Given the description of an element on the screen output the (x, y) to click on. 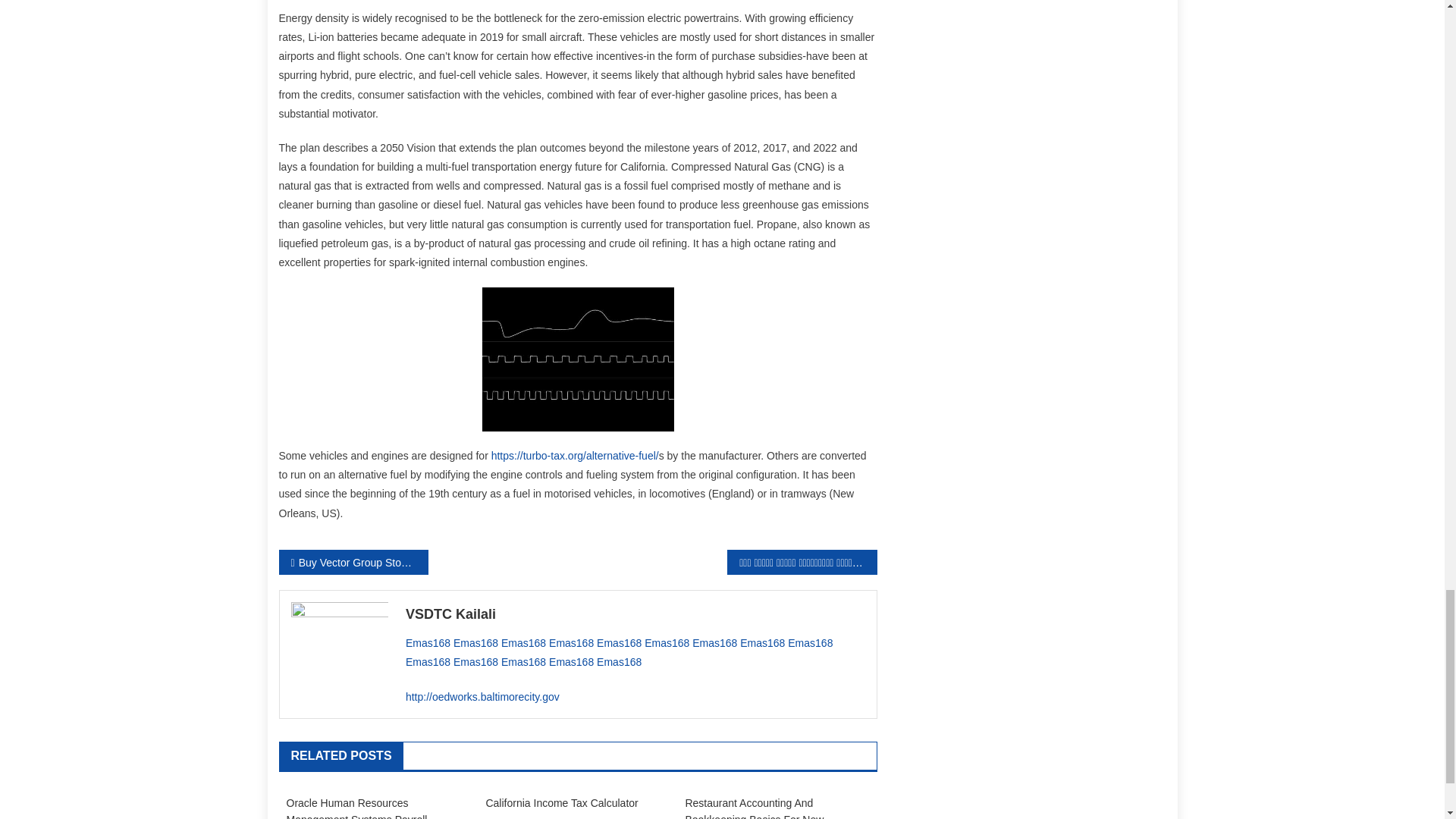
Emas168 (427, 643)
Emas168 (474, 643)
Emas168 (523, 643)
Emas168 (571, 643)
Emas168 (714, 643)
Emas168 (666, 643)
VSDTC Kailali (635, 613)
Emas168 (619, 643)
